Given the description of an element on the screen output the (x, y) to click on. 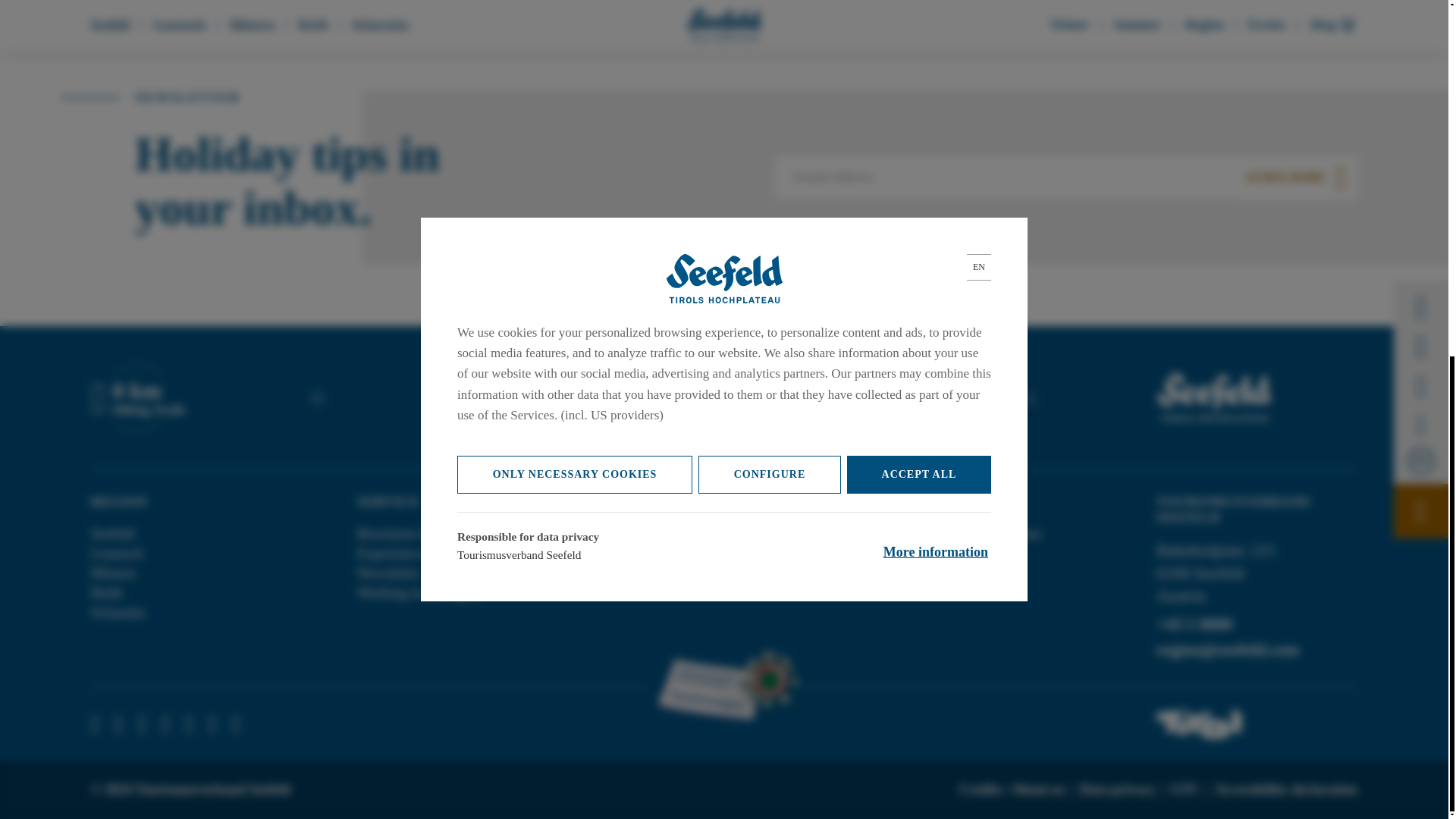
Seefeld (111, 533)
SUBSCRIBE (1296, 177)
REGION (119, 501)
Reith (106, 592)
SERVICE (387, 501)
Experience the region digitally (445, 553)
Scharnitz (117, 612)
Leutasch (116, 553)
